Given the description of an element on the screen output the (x, y) to click on. 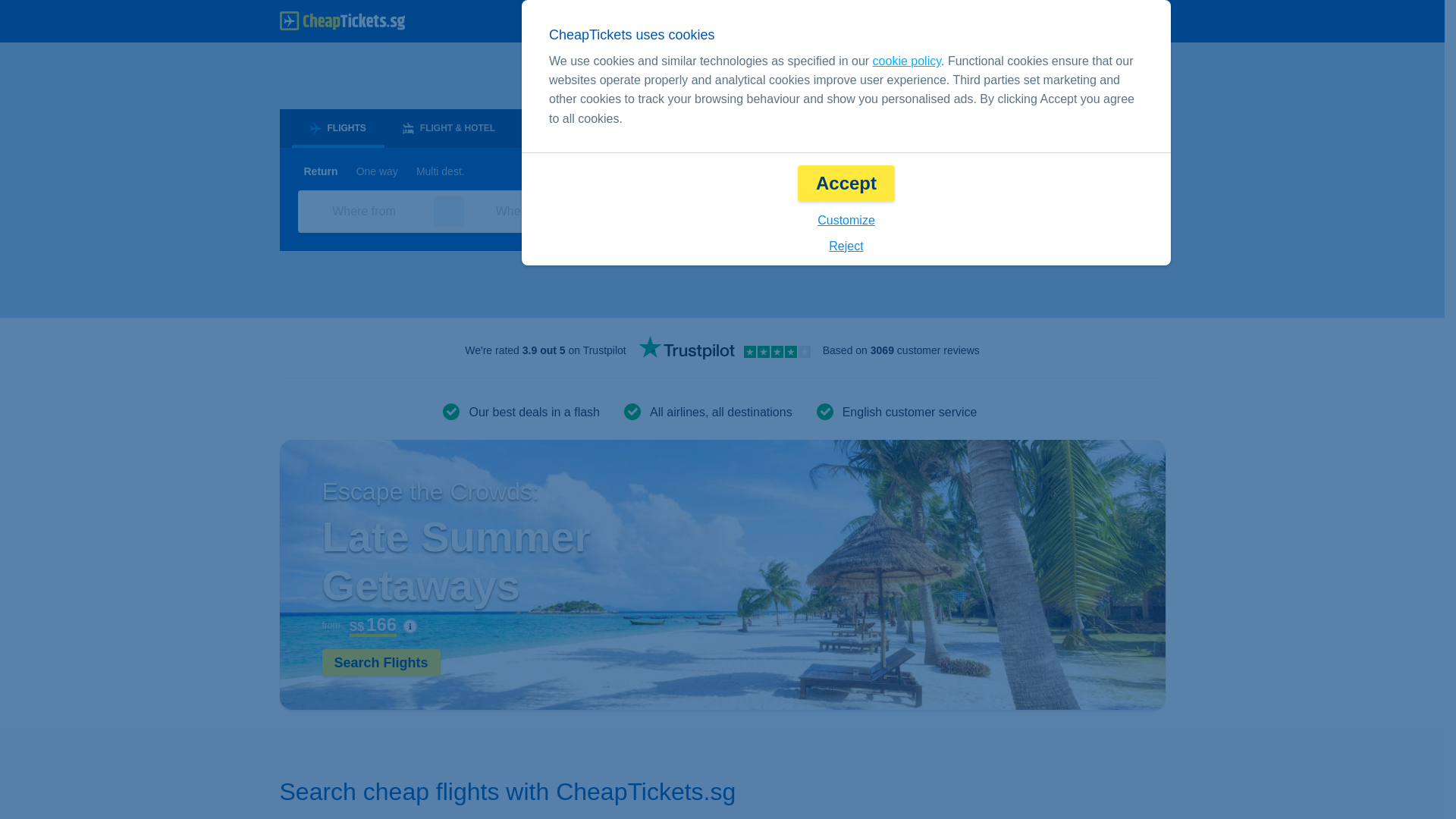
My Account (1116, 21)
Based on 3069 customer reviews (900, 350)
English (902, 21)
Search Flights (380, 662)
Search (1087, 211)
